Given the description of an element on the screen output the (x, y) to click on. 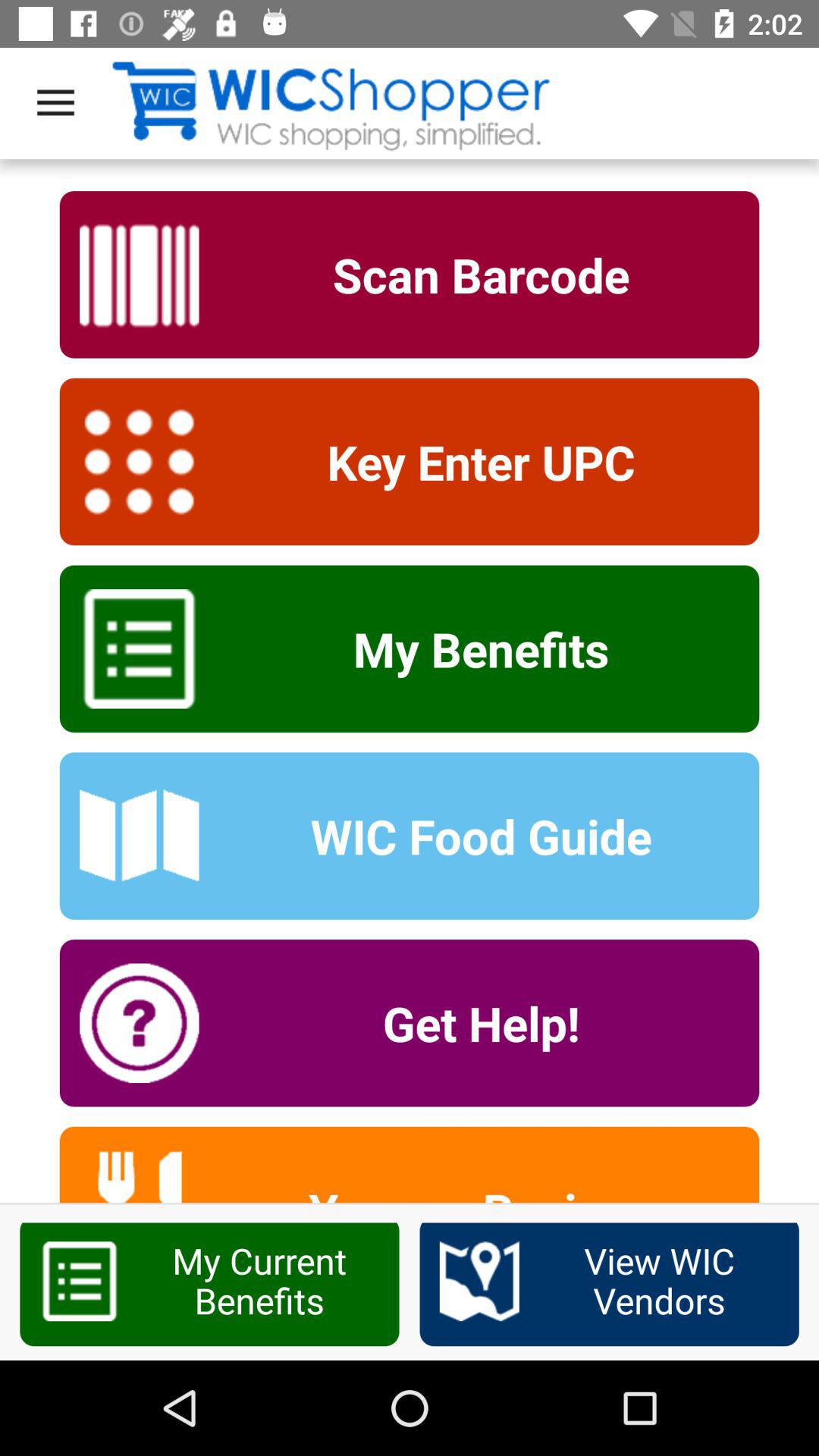
swipe until the key enter upc (471, 461)
